Given the description of an element on the screen output the (x, y) to click on. 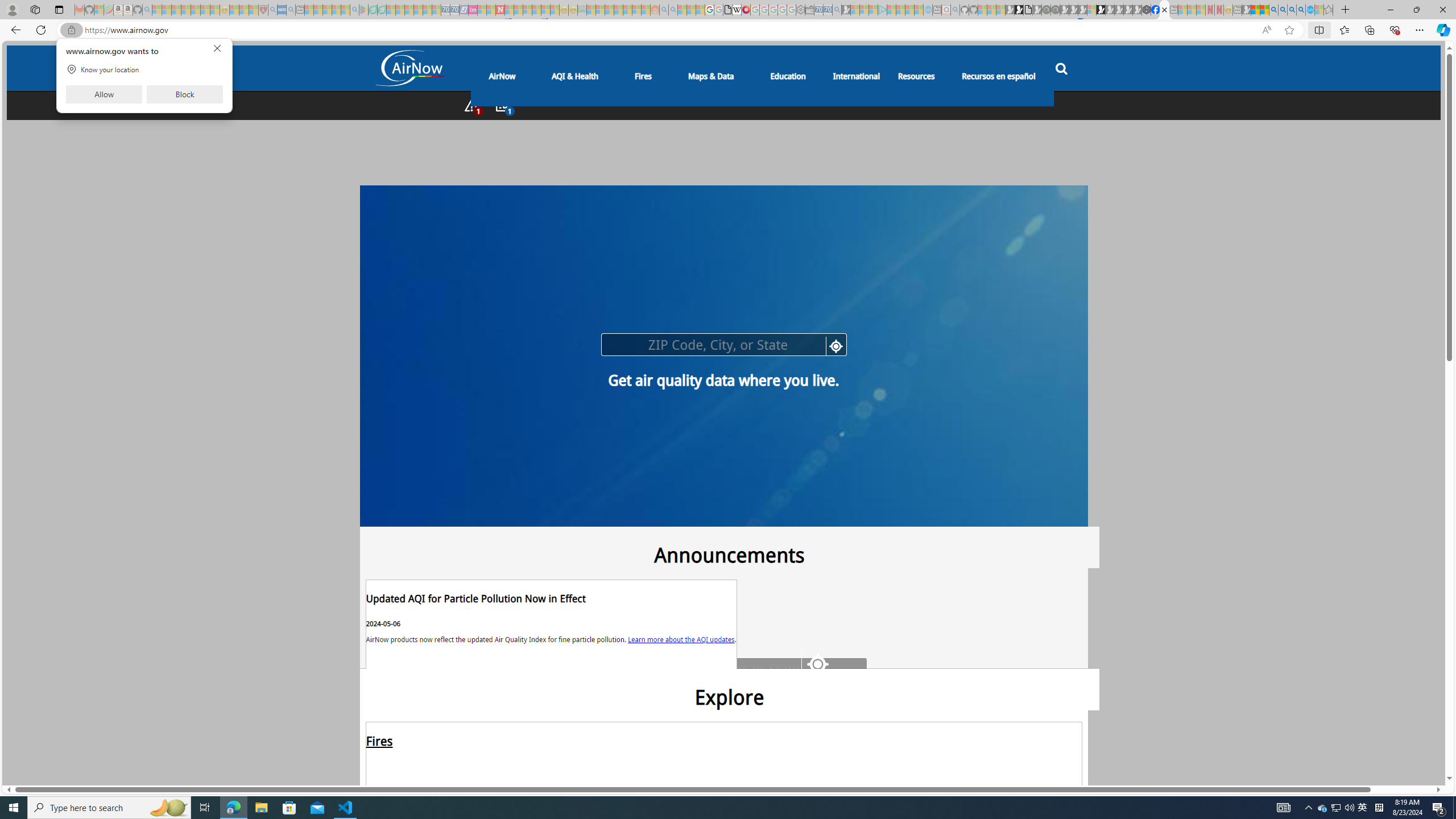
EPA (394, 551)
Class: main-link dropbtn-nav-link (998, 75)
Air Now Logo (408, 67)
MSN - Sleeping (1246, 9)
Services - Maintenance | Sky Blue Bikes - Sky Blue Bikes (1309, 9)
https://www.airnow.gov/announcement/5494 (550, 624)
